Given the description of an element on the screen output the (x, y) to click on. 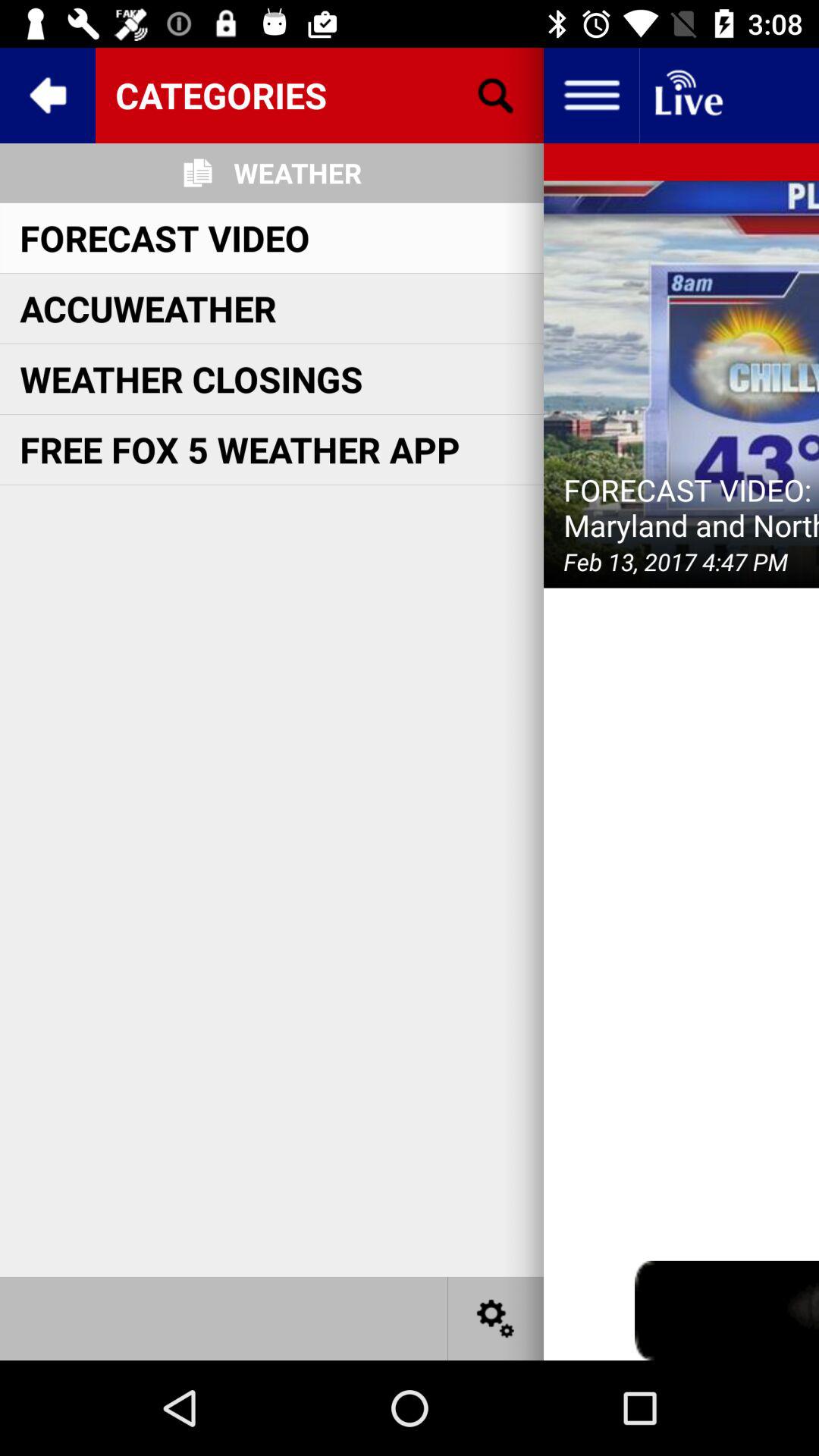
open icon next to weather (495, 95)
